Given the description of an element on the screen output the (x, y) to click on. 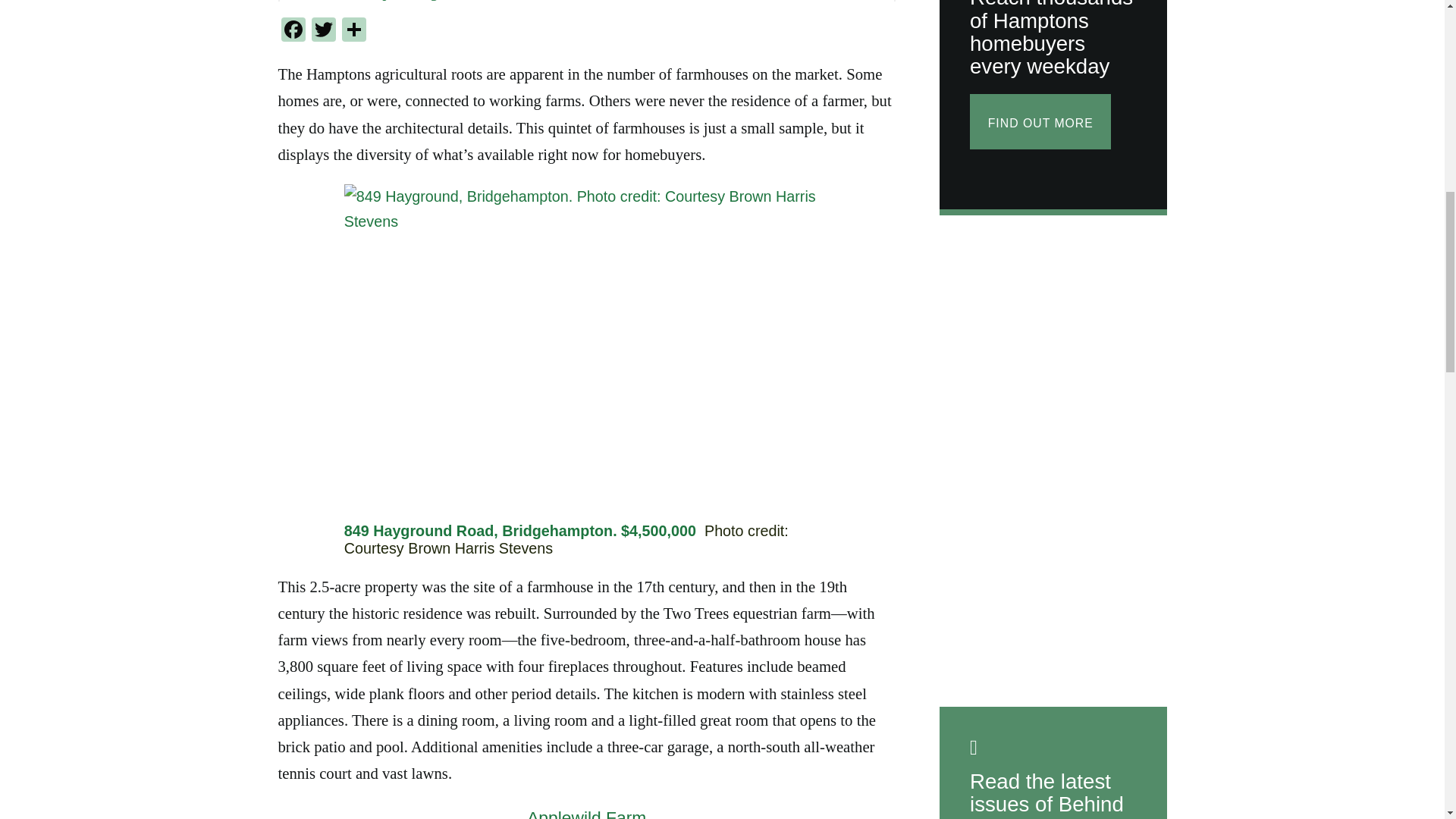
Facebook (292, 31)
Twitter (322, 31)
